Given the description of an element on the screen output the (x, y) to click on. 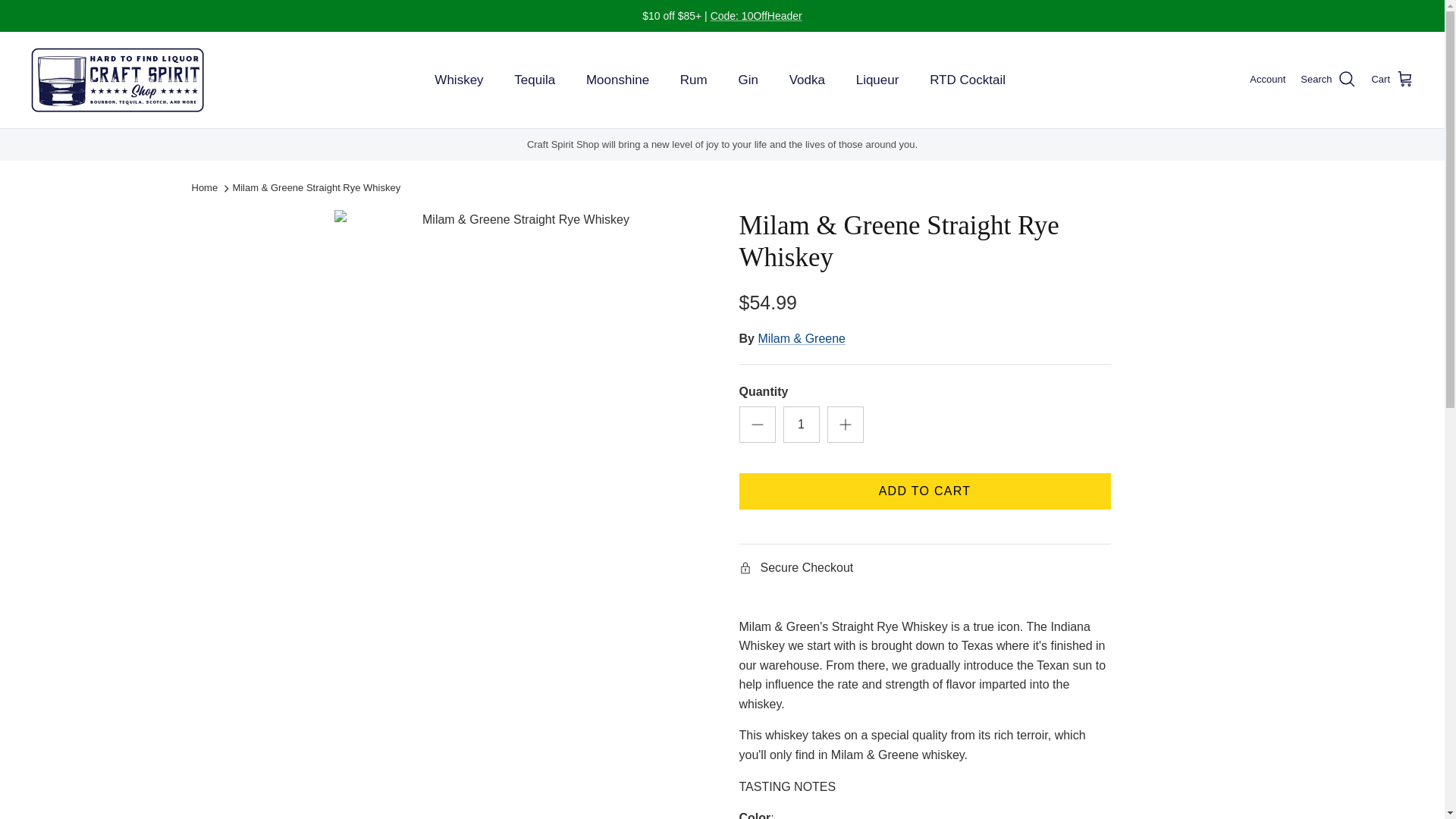
Cart (1392, 79)
Whiskey (458, 80)
Search (1327, 79)
Account (1267, 79)
Gin (747, 80)
Rum (693, 80)
Craft Spirit Shop (117, 79)
Vodka (807, 80)
Moonshine (617, 80)
RTD Cocktail (967, 80)
Tequila (534, 80)
Liqueur (877, 80)
Minus (756, 424)
1 (800, 424)
Plus (844, 424)
